Given the description of an element on the screen output the (x, y) to click on. 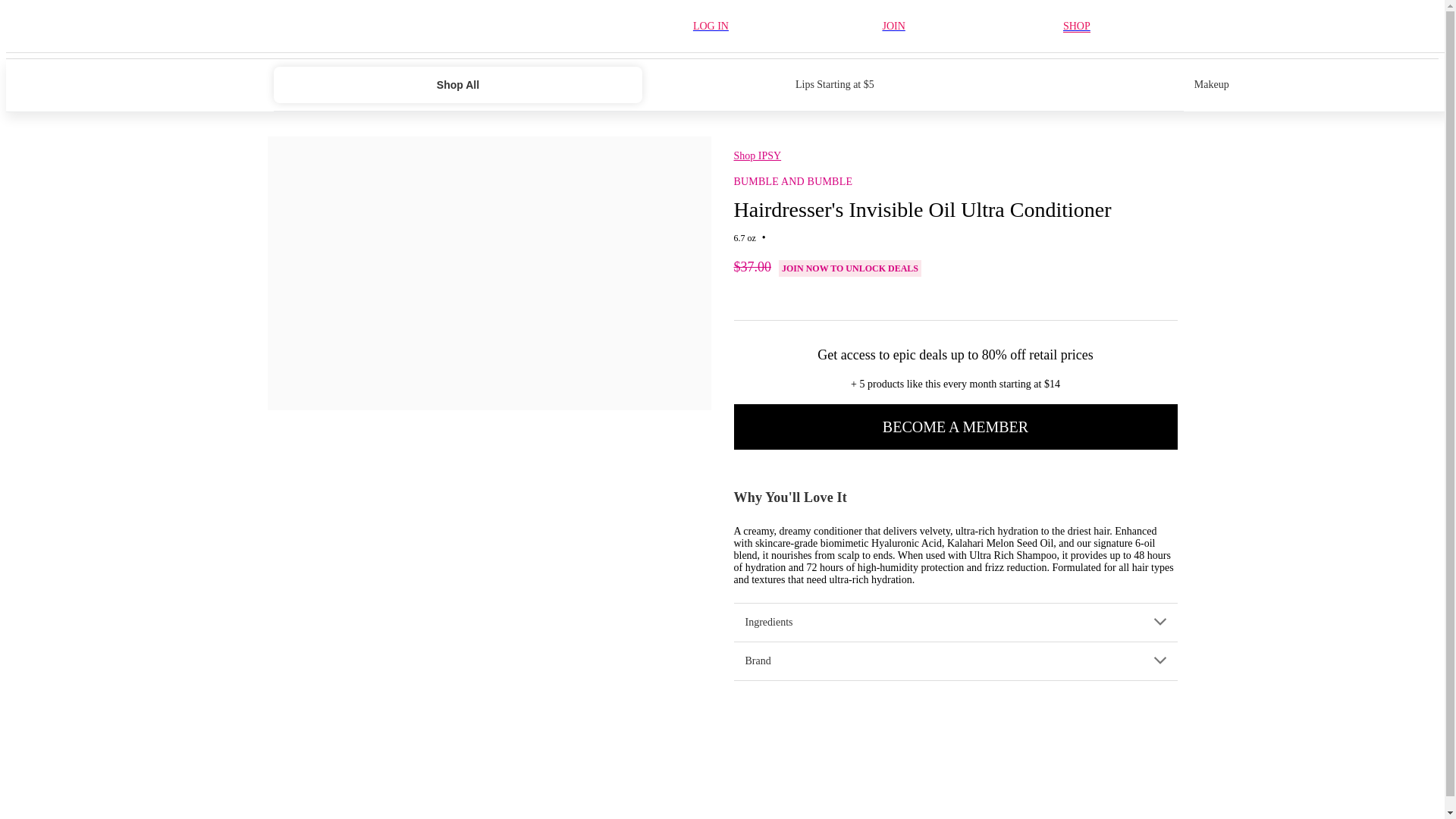
Ingredients (955, 622)
BECOME A MEMBER (955, 426)
Shop IPSY (757, 155)
Brand (955, 661)
BUMBLE AND BUMBLE (793, 181)
SHOP (1076, 26)
JOIN (893, 25)
LOG IN (711, 25)
